Given the description of an element on the screen output the (x, y) to click on. 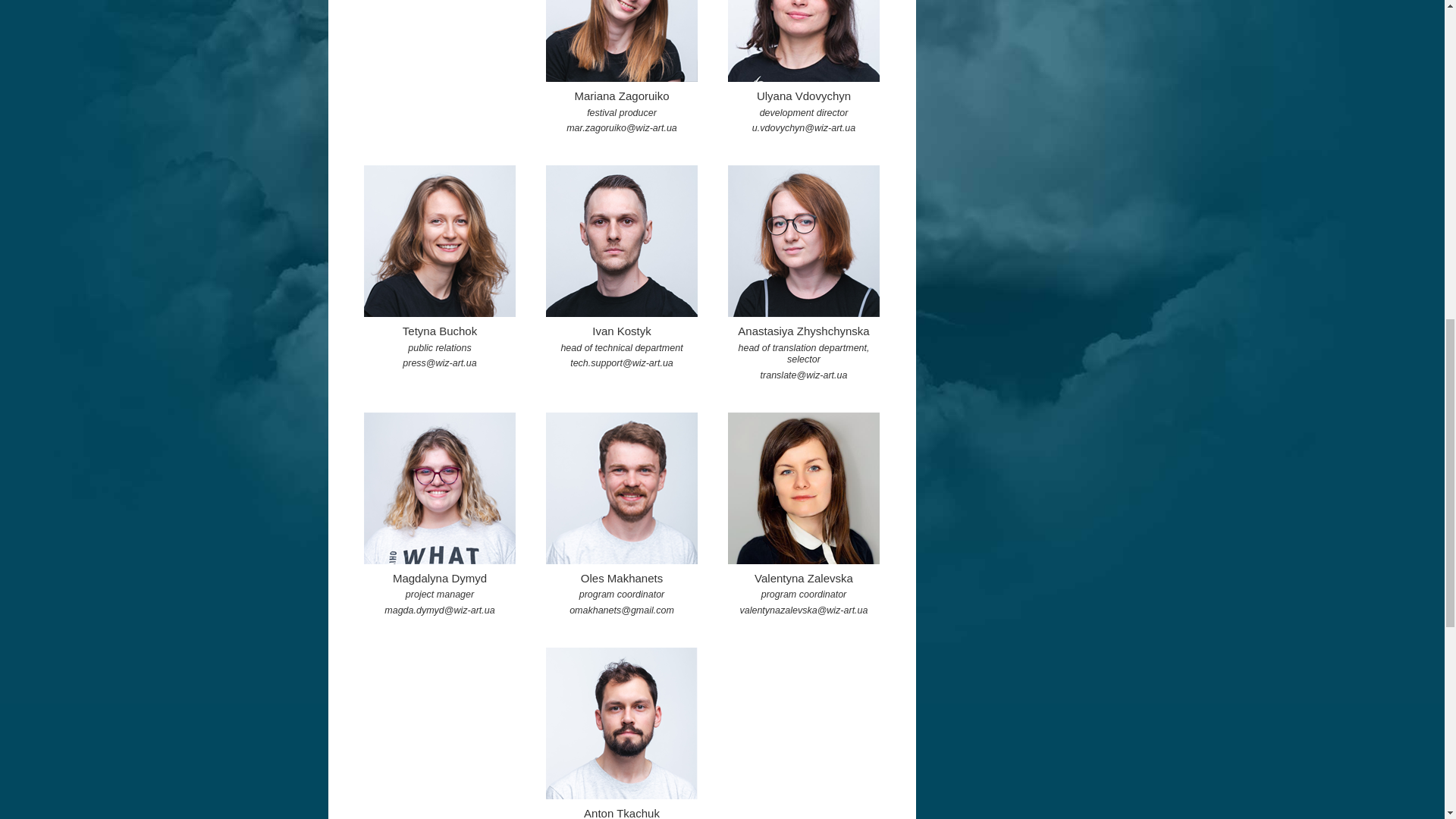
Magdalyna Dymyd (439, 488)
Valentyna Zalevska (803, 488)
Anastasiya Zhyshchynska (803, 240)
Mariana Zagoruiko (621, 40)
Tetyna Buchok (439, 240)
Ivan Kostyk (621, 240)
Oles Makhanets (621, 488)
Ulyana Vdovychyn (803, 40)
